Given the description of an element on the screen output the (x, y) to click on. 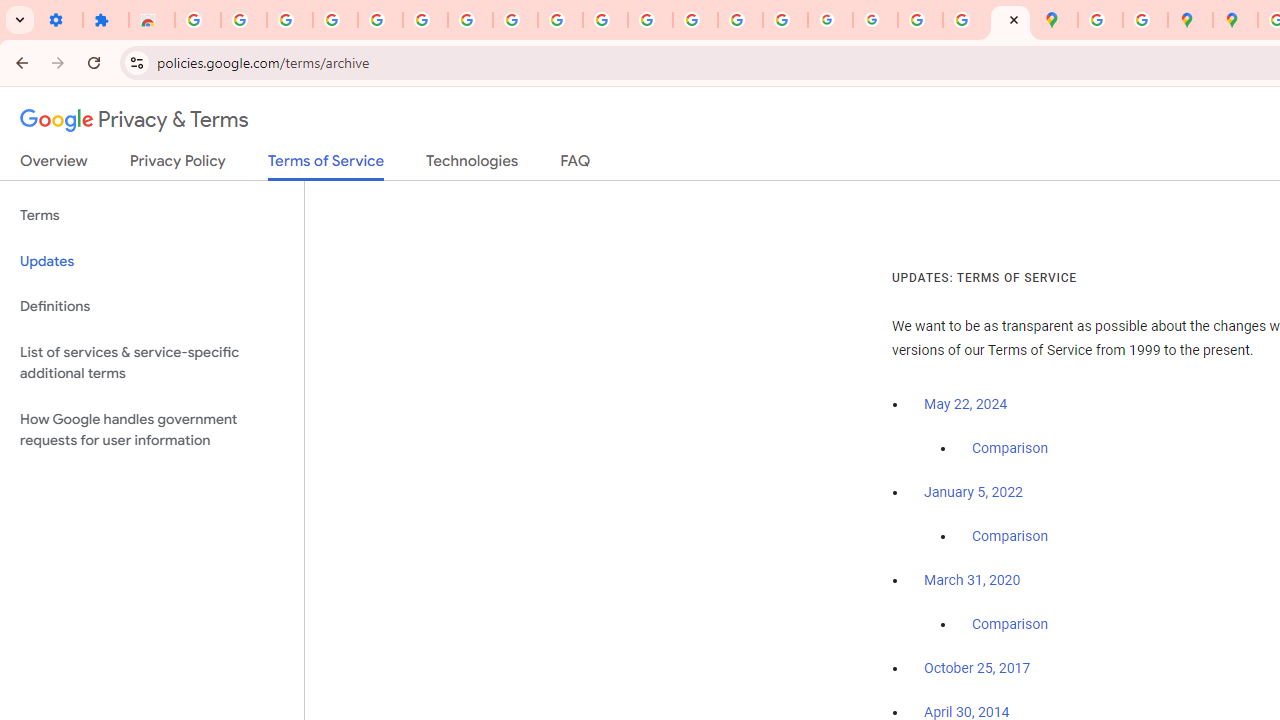
Sign in - Google Accounts (425, 20)
May 22, 2024 (966, 404)
Settings - On startup (60, 20)
Comparison (1009, 625)
Definitions (152, 306)
Reviews: Helix Fruit Jump Arcade Game (152, 20)
